Given the description of an element on the screen output the (x, y) to click on. 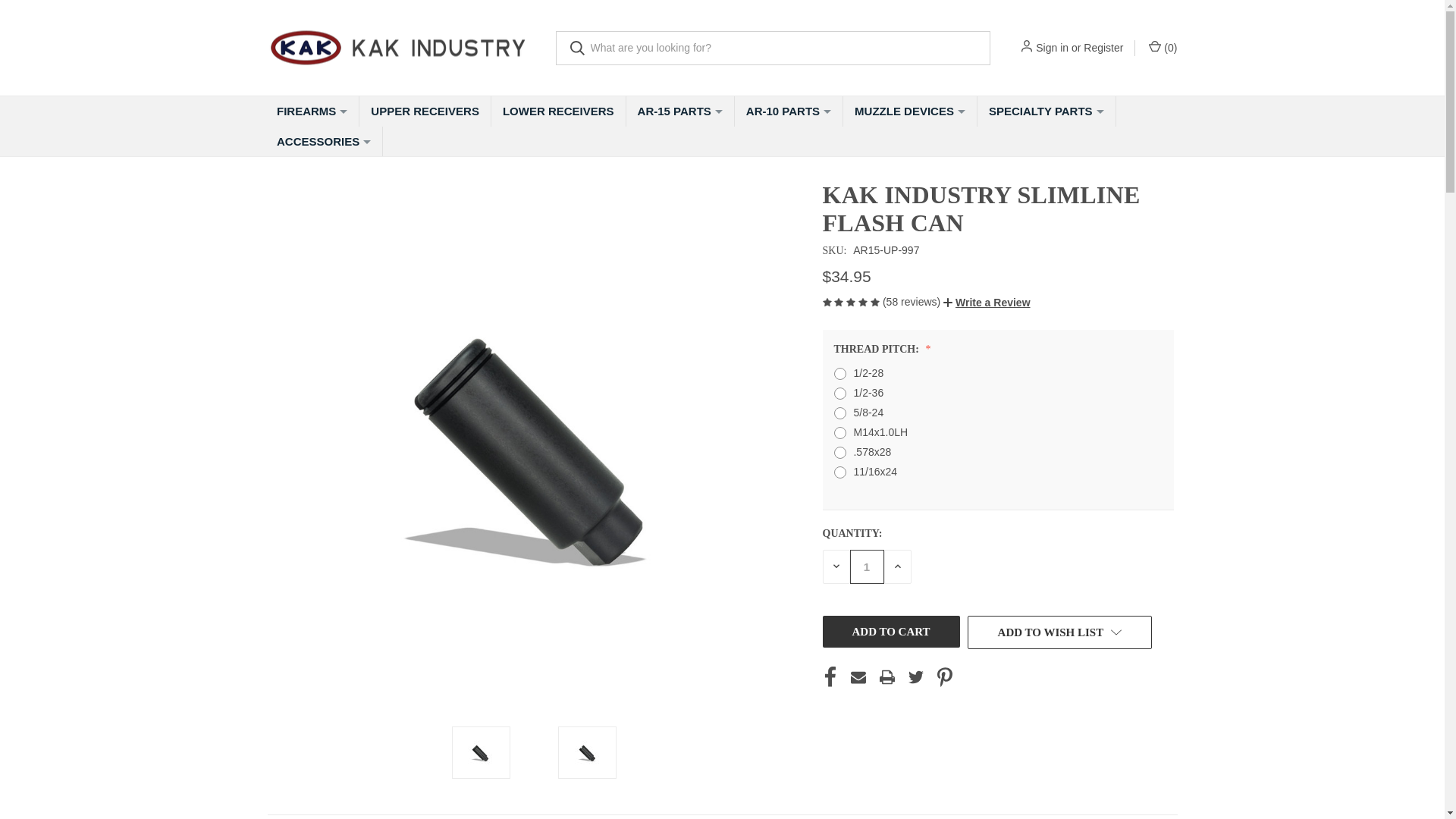
Add to Cart (890, 631)
Sign in (1051, 47)
Register (1102, 47)
KAK INDUSTRY (399, 48)
1 (865, 566)
